Given the description of an element on the screen output the (x, y) to click on. 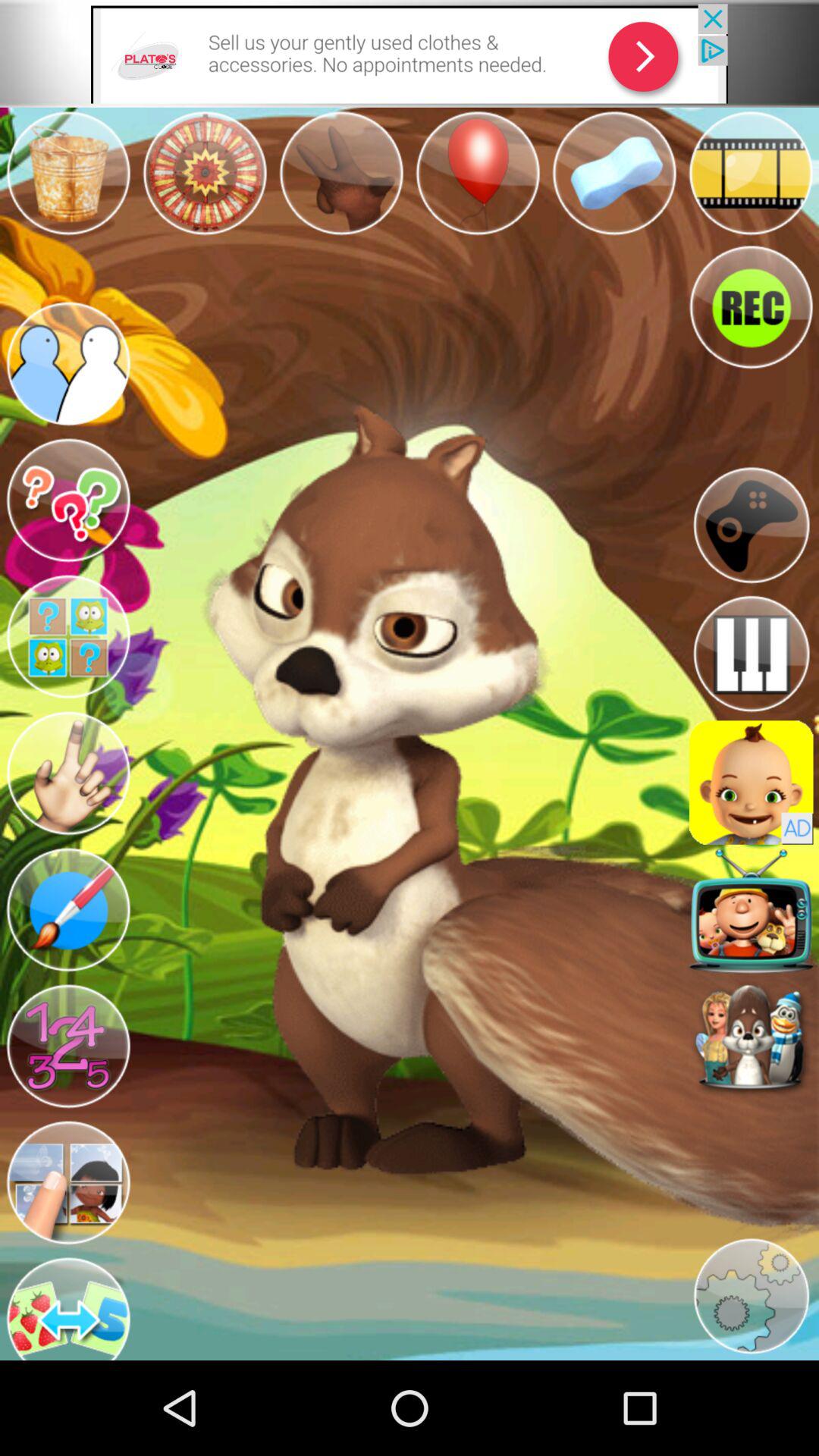
takes you to the advertisement link (409, 53)
